Given the description of an element on the screen output the (x, y) to click on. 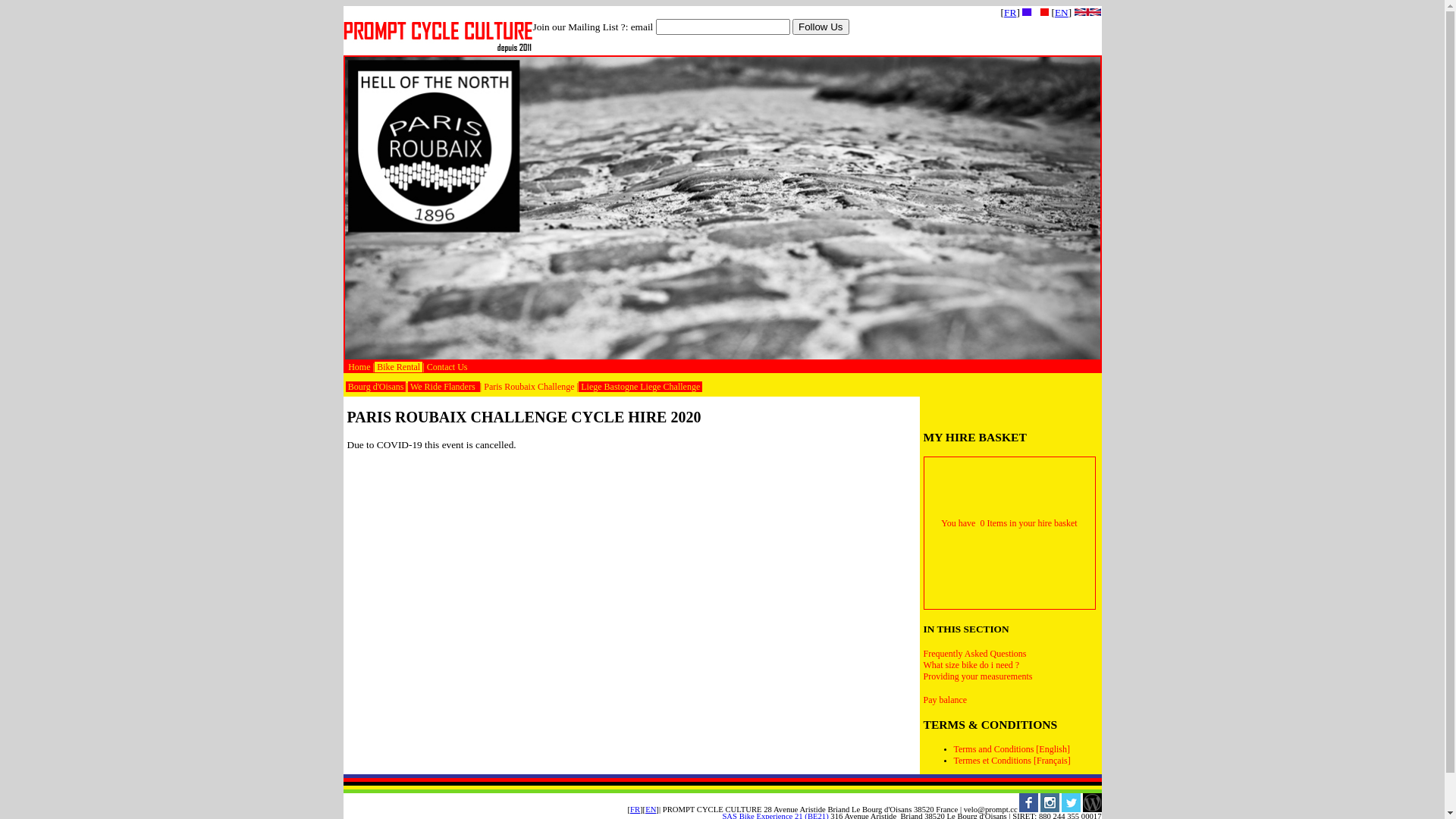
Terms and Conditions [English] Element type: text (1011, 748)
FR Element type: text (1010, 12)
 We Ride Flanders   Element type: text (443, 386)
 Contact Us  Element type: text (447, 366)
 Paris Roubaix Challenge  Element type: text (528, 386)
EN Element type: text (650, 809)
Frequently Asked Questions Element type: text (974, 653)
Home  Element type: text (360, 366)
 Liege Bastogne Liege Challenge  Element type: text (640, 386)
 Bourg d'Oisans  Element type: text (375, 386)
EN Element type: text (1061, 12)
 Bike Rental  Element type: text (398, 366)
You have  0 Items in your hire basket Element type: text (1008, 522)
What size bike do i need ? Element type: text (971, 664)
Follow Us Element type: text (820, 26)
Pay balance Element type: text (945, 699)
Providing your measurements Element type: text (977, 676)
FR Element type: text (635, 809)
